Given the description of an element on the screen output the (x, y) to click on. 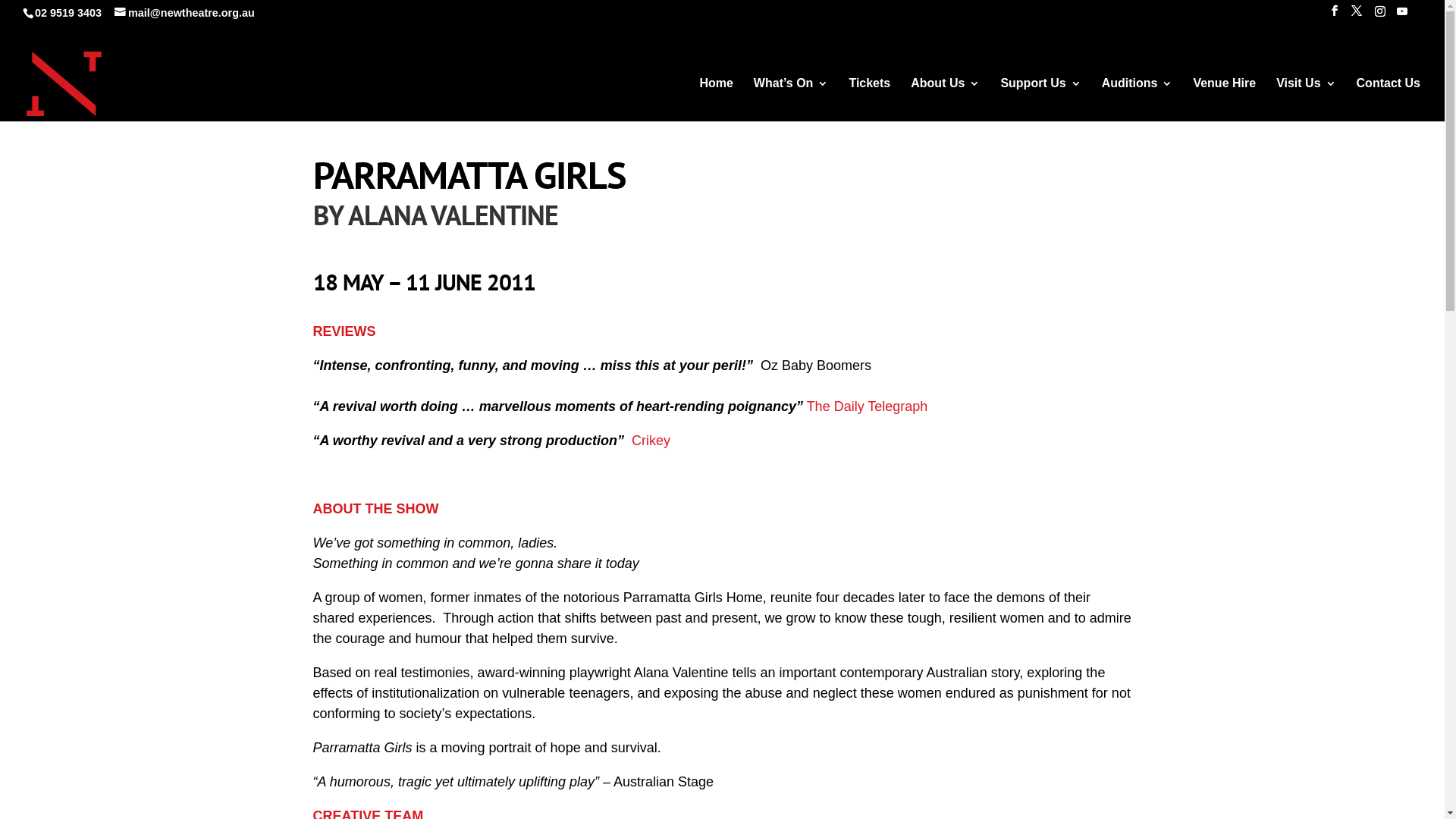
Tickets Element type: text (869, 103)
Home Element type: text (715, 103)
Venue Hire Element type: text (1223, 103)
Visit Us Element type: text (1305, 103)
Crikey Element type: text (650, 440)
About Us Element type: text (944, 103)
The Daily Telegraph Element type: text (867, 406)
Auditions Element type: text (1137, 103)
Support Us Element type: text (1040, 103)
mail@newtheatre.org.au Element type: text (184, 12)
Contact Us Element type: text (1388, 103)
